Given the description of an element on the screen output the (x, y) to click on. 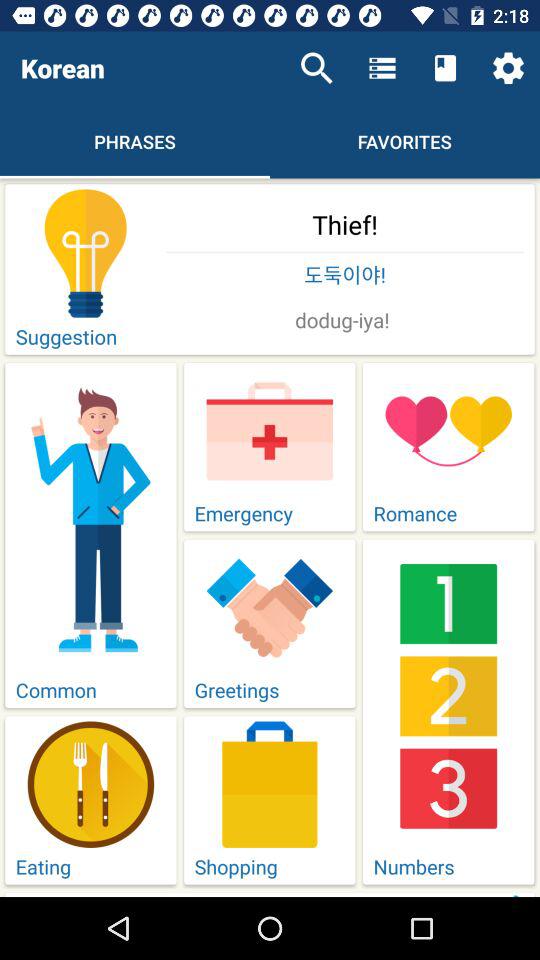
click the item above the favorites item (444, 67)
